Given the description of an element on the screen output the (x, y) to click on. 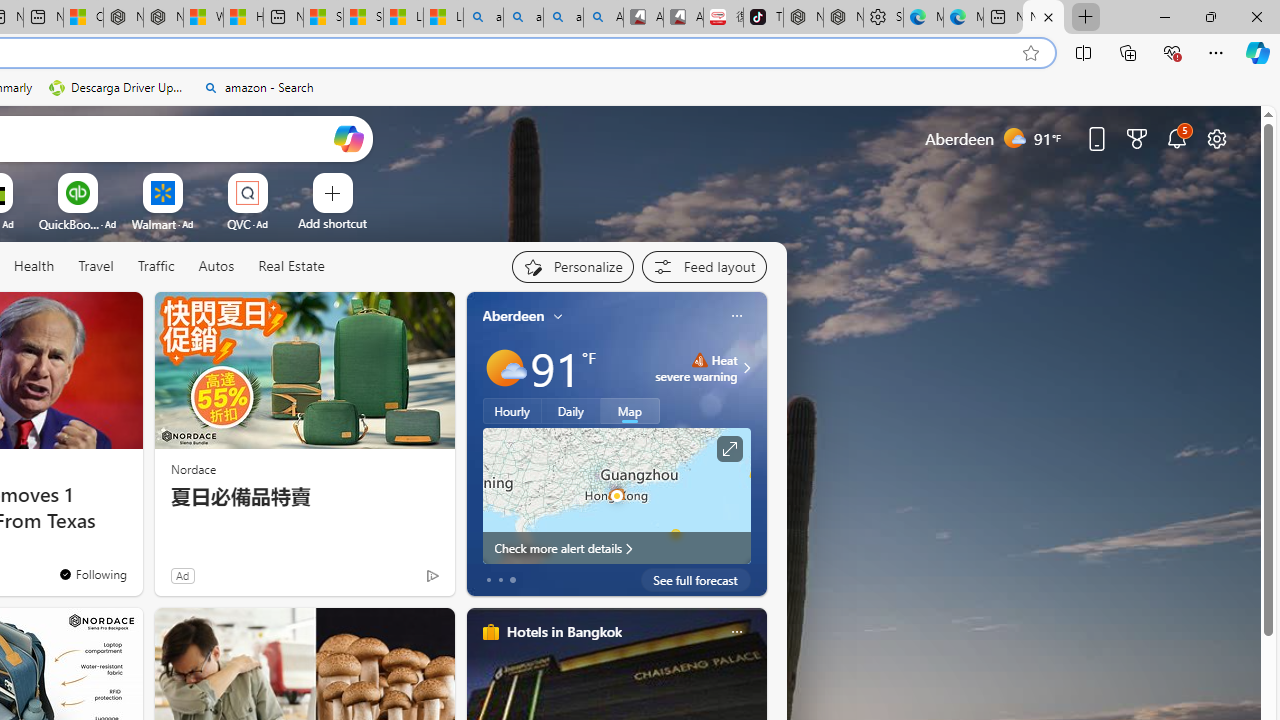
Heat - Severe Heat severe warning (696, 367)
Personalize your feed" (571, 266)
Add a site (332, 223)
